Given the description of an element on the screen output the (x, y) to click on. 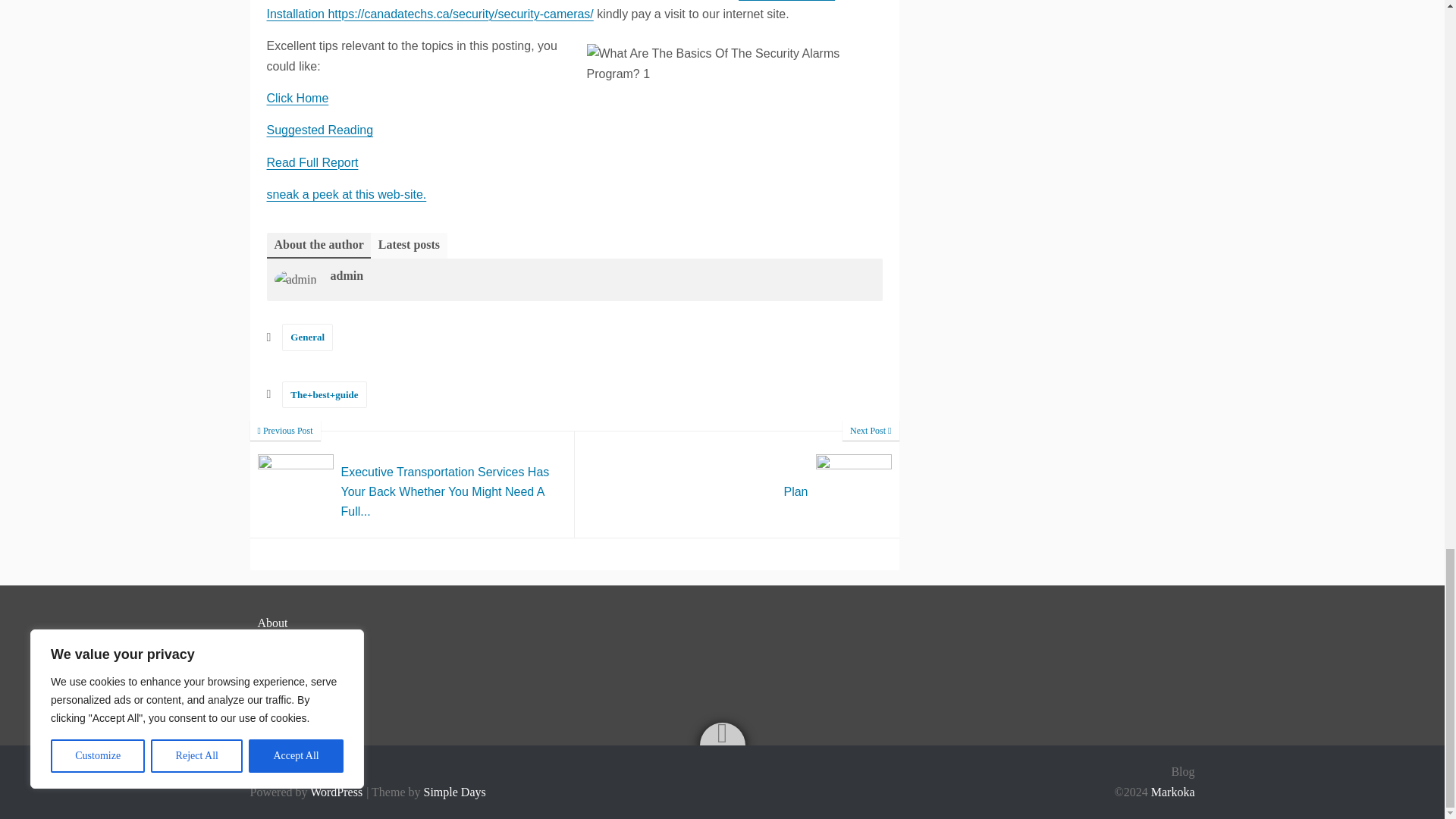
sneak a peek at this web-site. (346, 194)
General (307, 336)
Click Home (737, 484)
Suggested Reading (297, 97)
Plan (320, 129)
Read Full Report (737, 484)
